Given the description of an element on the screen output the (x, y) to click on. 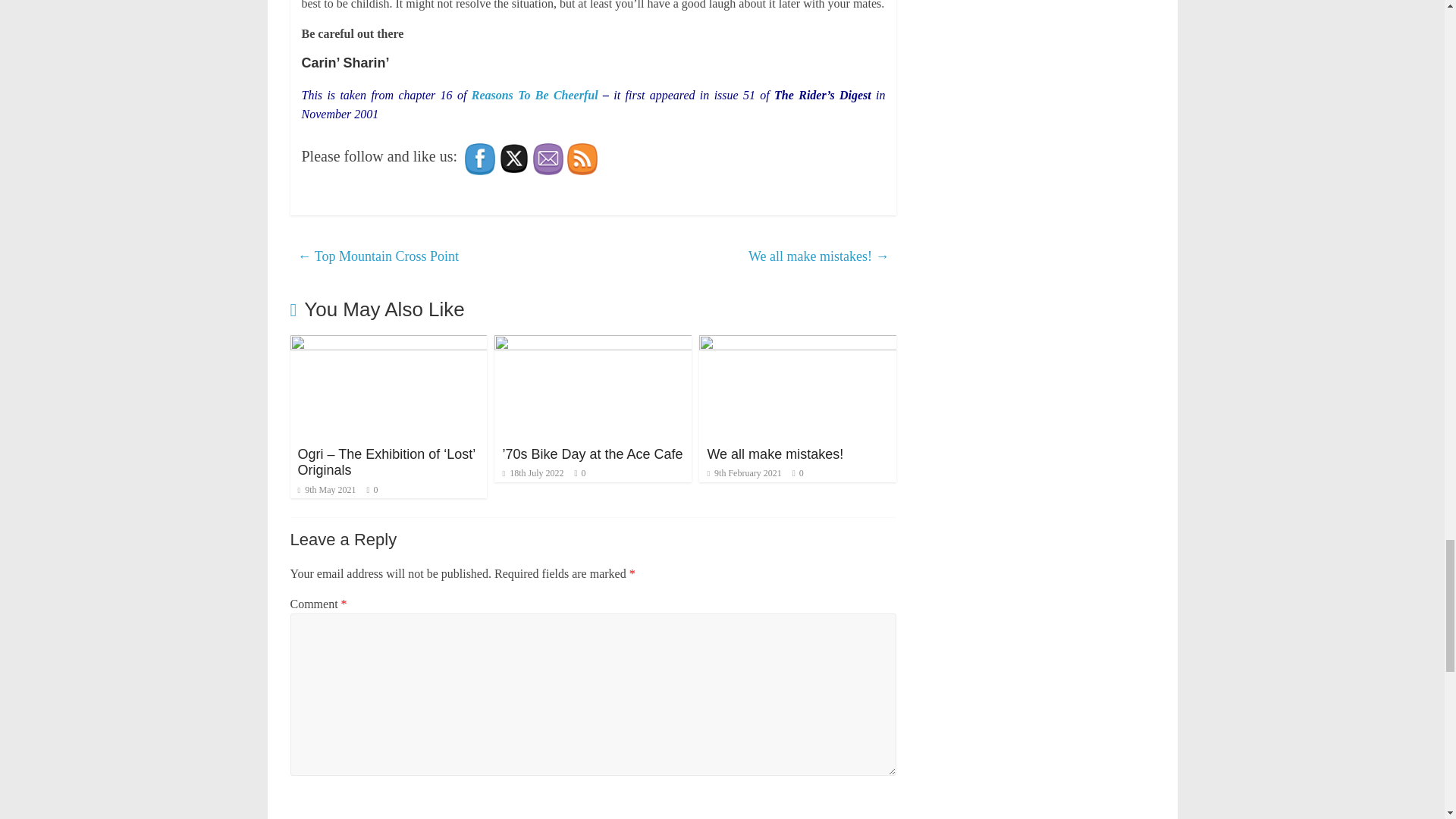
Twitter (514, 158)
Facebook (479, 159)
